Given the description of an element on the screen output the (x, y) to click on. 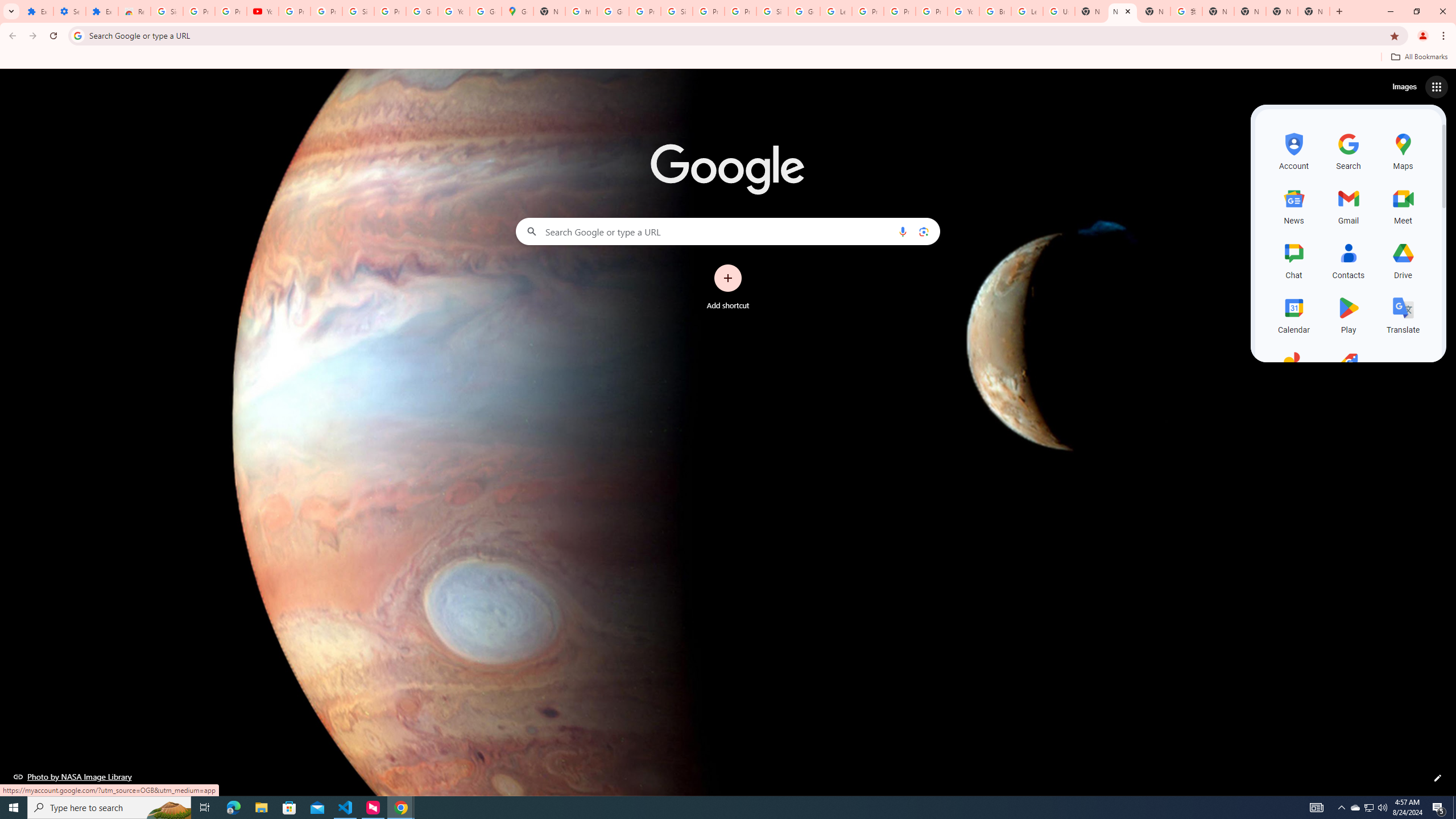
Account, row 1 of 5 and column 1 of 3 in the first section (1293, 149)
Privacy Help Center - Policies Help (868, 11)
Drive, row 3 of 5 and column 3 of 3 in the first section (1402, 259)
Extensions (101, 11)
Play, row 4 of 5 and column 2 of 3 in the first section (1348, 313)
Gmail, row 2 of 5 and column 2 of 3 in the first section (1348, 204)
YouTube (453, 11)
